Given the description of an element on the screen output the (x, y) to click on. 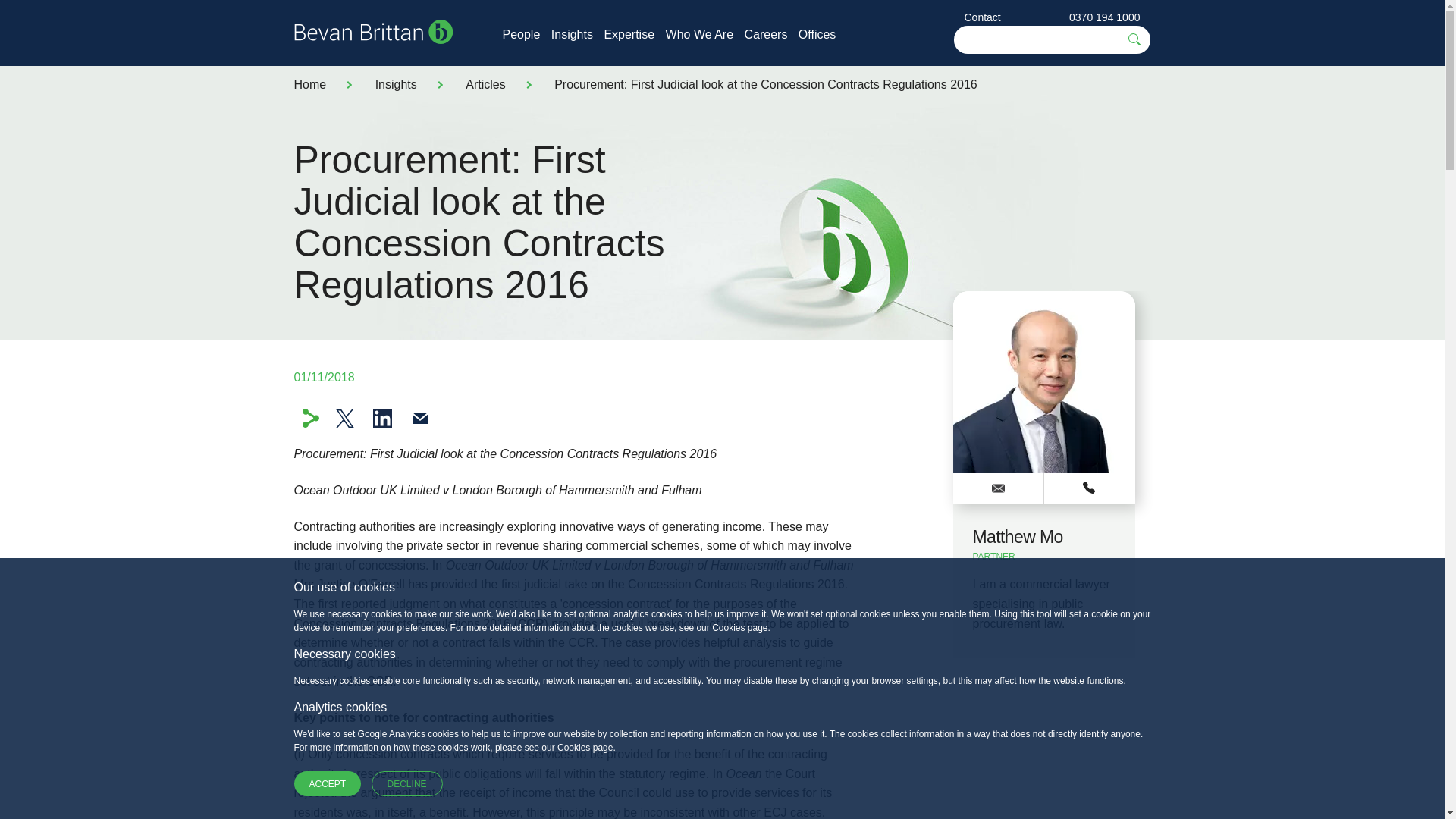
Email (419, 417)
LinkedIn (381, 417)
0370 194 1000 (1104, 17)
Contact (982, 17)
Insights (395, 83)
Expertise (628, 33)
Twitter (343, 417)
Who We Are (699, 33)
Offices (816, 33)
